Given the description of an element on the screen output the (x, y) to click on. 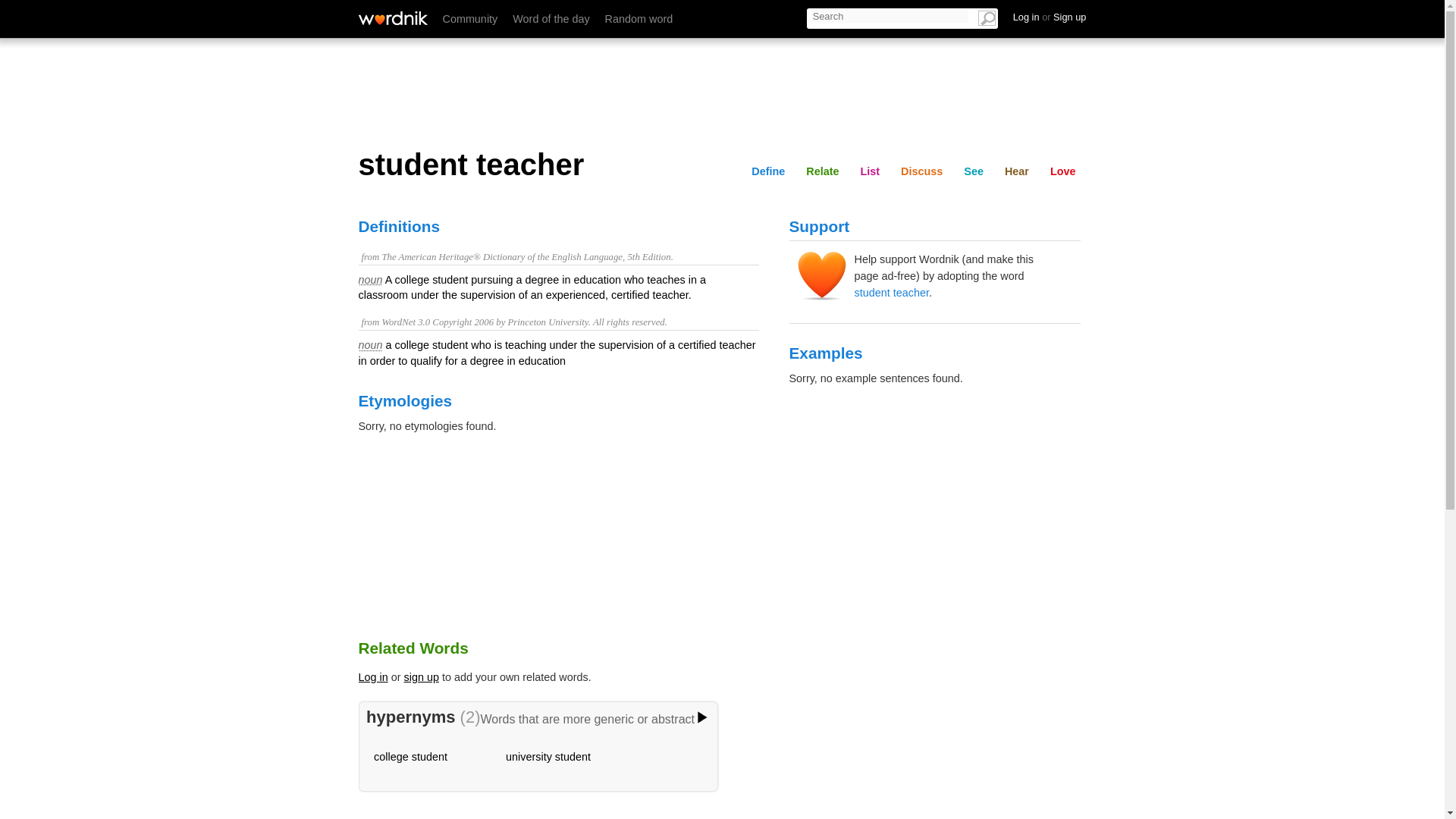
3rd party ad content (721, 90)
Hear (1063, 16)
Relate (821, 171)
student teacher (890, 292)
Hear (1016, 171)
Community (469, 19)
partOfSpeech (369, 345)
Log in or Sign Up (1049, 16)
Log in (372, 676)
Community (469, 19)
See (974, 171)
Wordnik Online Dictionary (392, 18)
Random Word (638, 19)
sign up (421, 676)
Love (1062, 171)
